Given the description of an element on the screen output the (x, y) to click on. 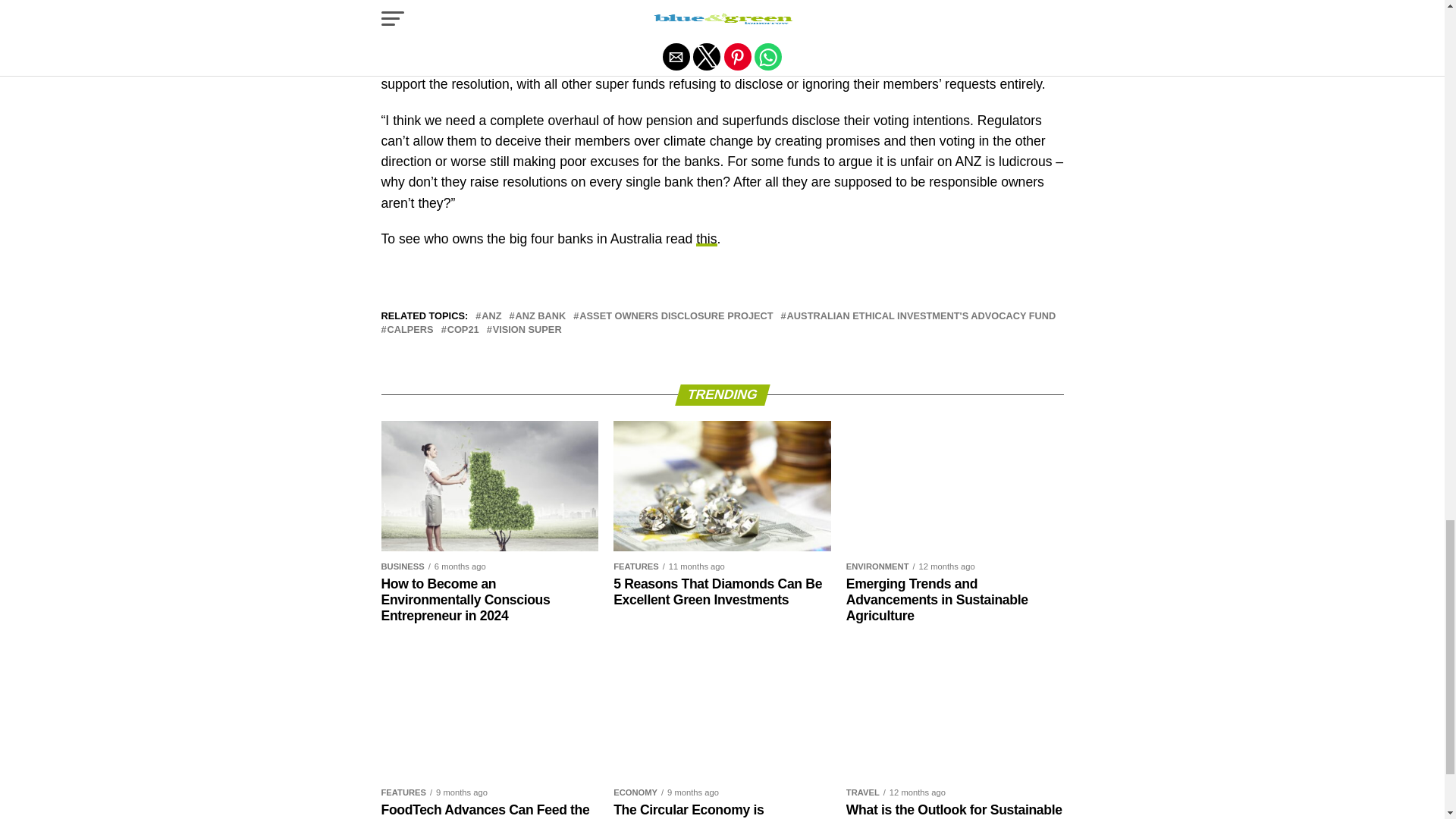
CALPERS (409, 329)
ASSET OWNERS DISCLOSURE PROJECT (676, 316)
this (705, 238)
ANZ (490, 316)
ANZ BANK (540, 316)
COP21 (462, 329)
VISION SUPER (527, 329)
AUSTRALIAN ETHICAL INVESTMENT'S ADVOCACY FUND (922, 316)
